Given the description of an element on the screen output the (x, y) to click on. 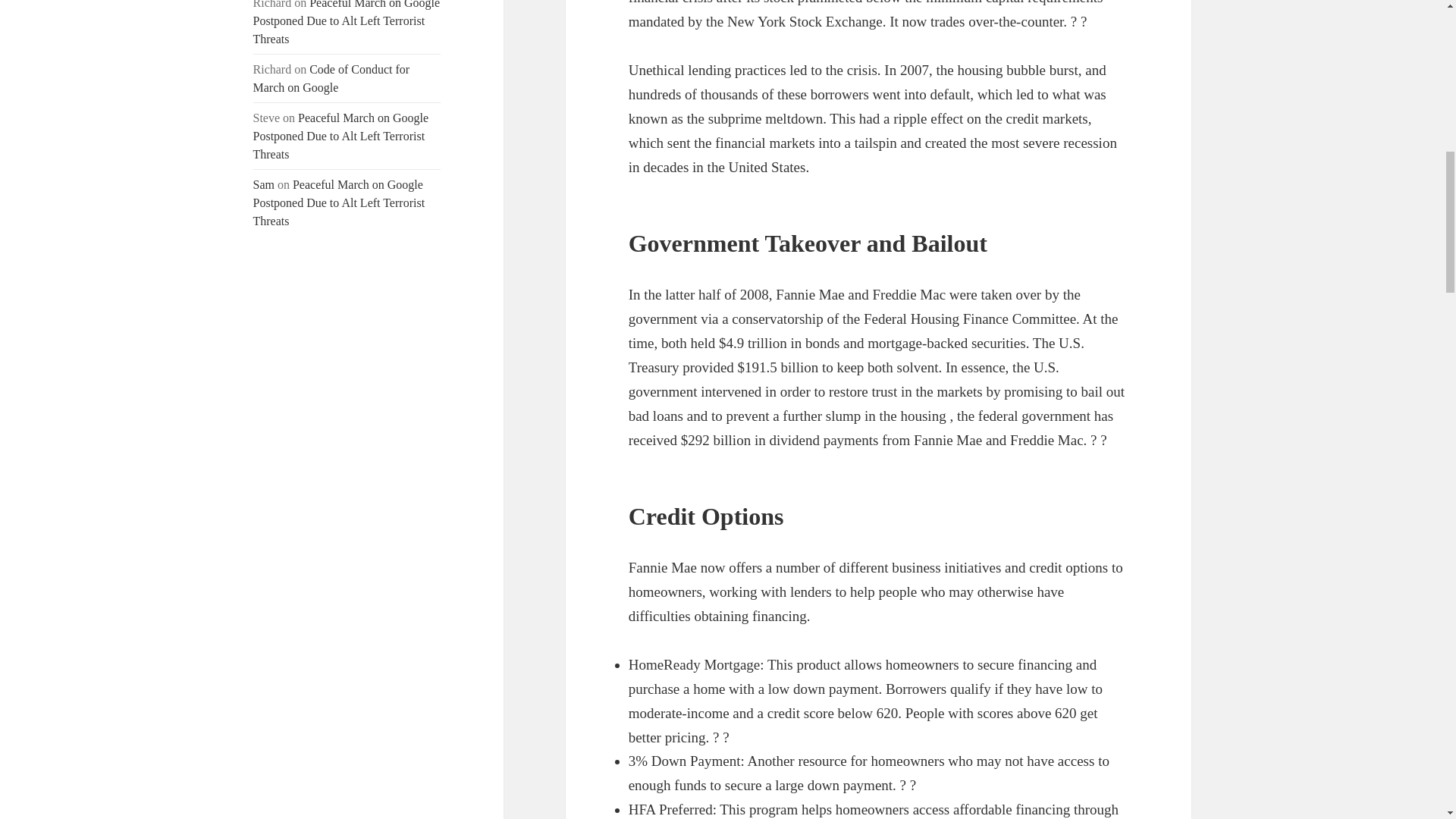
Code of Conduct for March on Google (331, 78)
Sam (264, 184)
